Given the description of an element on the screen output the (x, y) to click on. 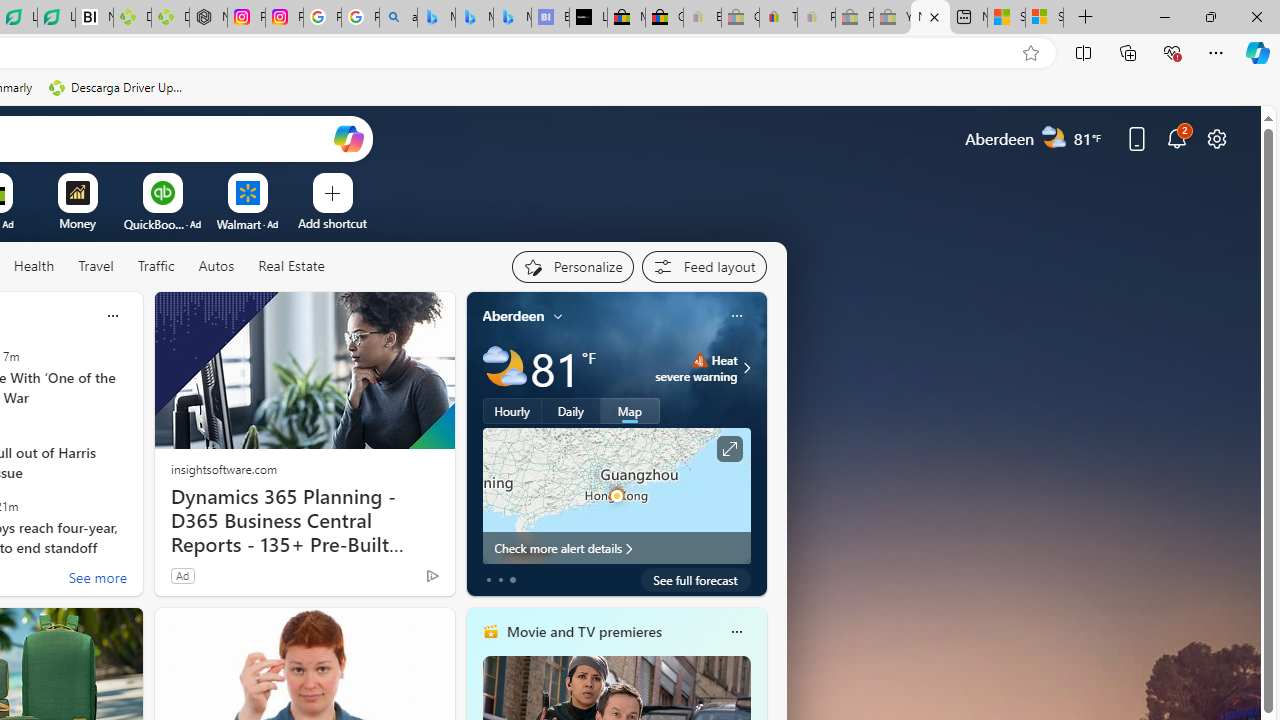
Map (630, 411)
tab-2 (511, 579)
Hourly (511, 411)
Heat - Severe Heat severe warning (696, 367)
Nordace - Nordace Edin Collection (207, 17)
Partly cloudy (504, 368)
Heat - Severe (699, 359)
